Given the description of an element on the screen output the (x, y) to click on. 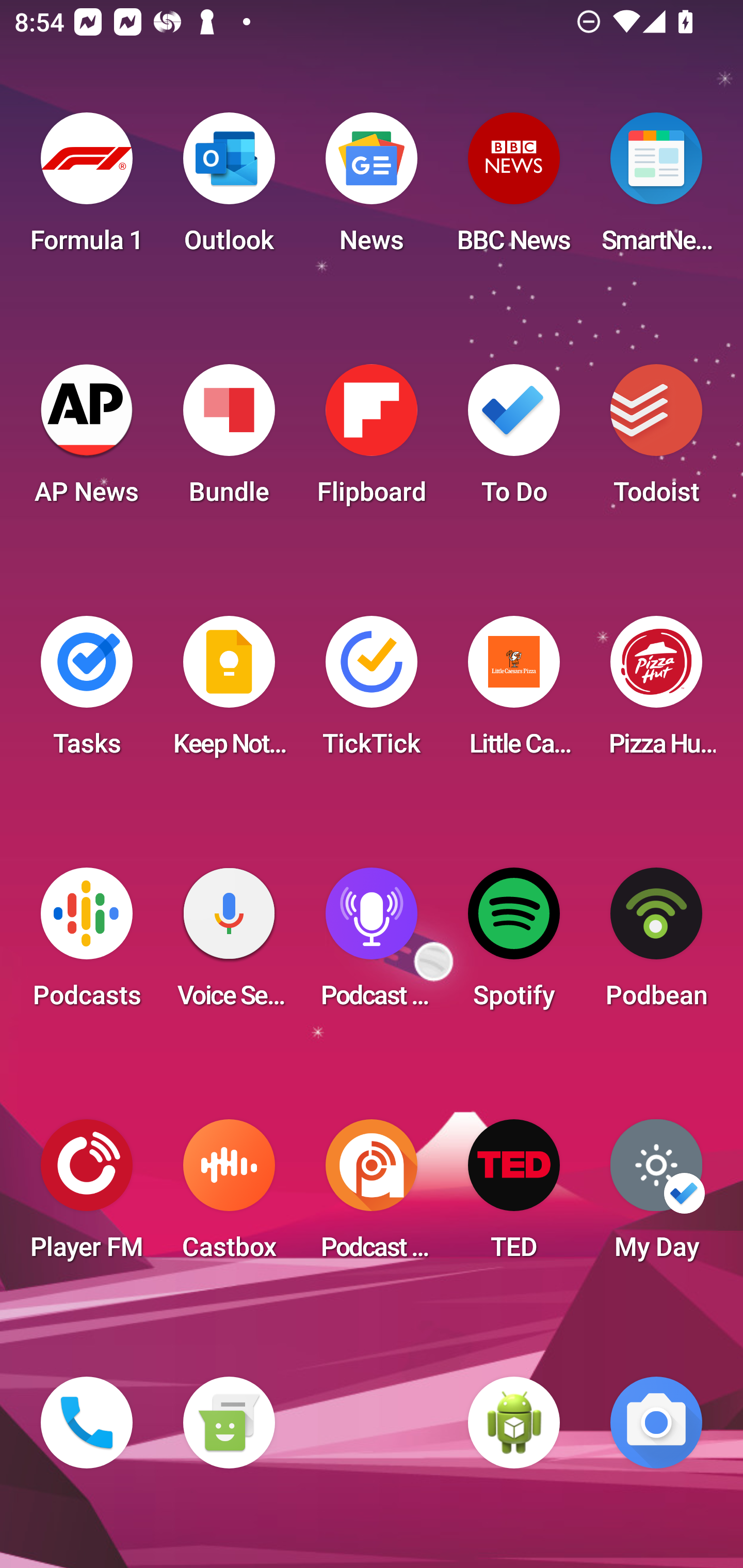
Formula 1 (86, 188)
Outlook (228, 188)
News (371, 188)
BBC News (513, 188)
SmartNews (656, 188)
AP News (86, 440)
Bundle (228, 440)
Flipboard (371, 440)
To Do (513, 440)
Todoist (656, 440)
Tasks (86, 692)
Keep Notes (228, 692)
TickTick (371, 692)
Little Caesars Pizza (513, 692)
Pizza Hut HK & Macau (656, 692)
Podcasts (86, 943)
Voice Search (228, 943)
Podcast Player (371, 943)
Spotify (513, 943)
Podbean (656, 943)
Player FM (86, 1195)
Castbox (228, 1195)
Podcast Addict (371, 1195)
TED (513, 1195)
My Day (656, 1195)
Phone (86, 1422)
Messaging (228, 1422)
WebView Browser Tester (513, 1422)
Camera (656, 1422)
